Given the description of an element on the screen output the (x, y) to click on. 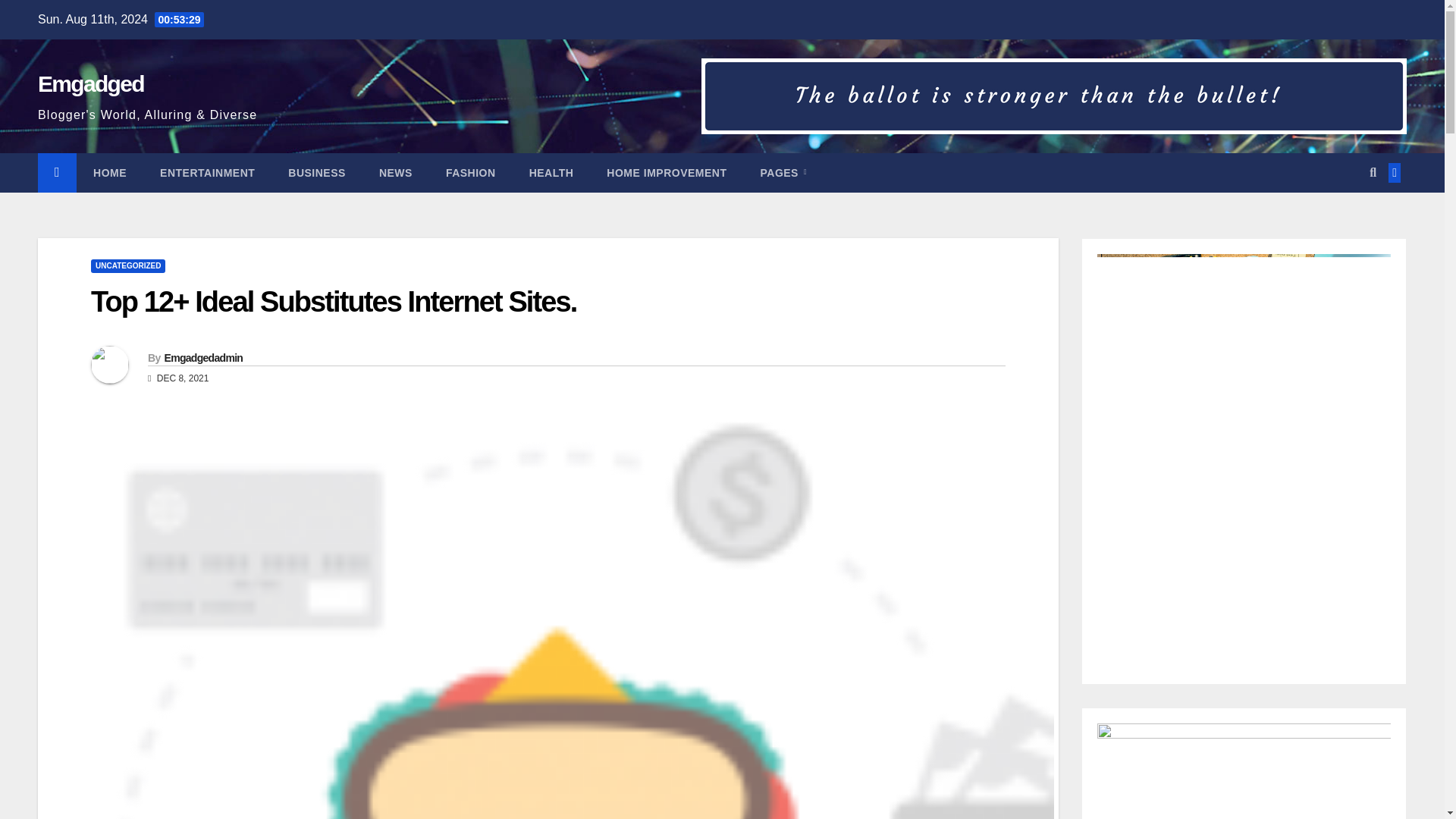
Health (551, 172)
Home (109, 172)
FASHION (470, 172)
Entertainment (206, 172)
News (395, 172)
Fashion (470, 172)
Pages (783, 172)
ENTERTAINMENT (206, 172)
PAGES (783, 172)
HOME (109, 172)
